Given the description of an element on the screen output the (x, y) to click on. 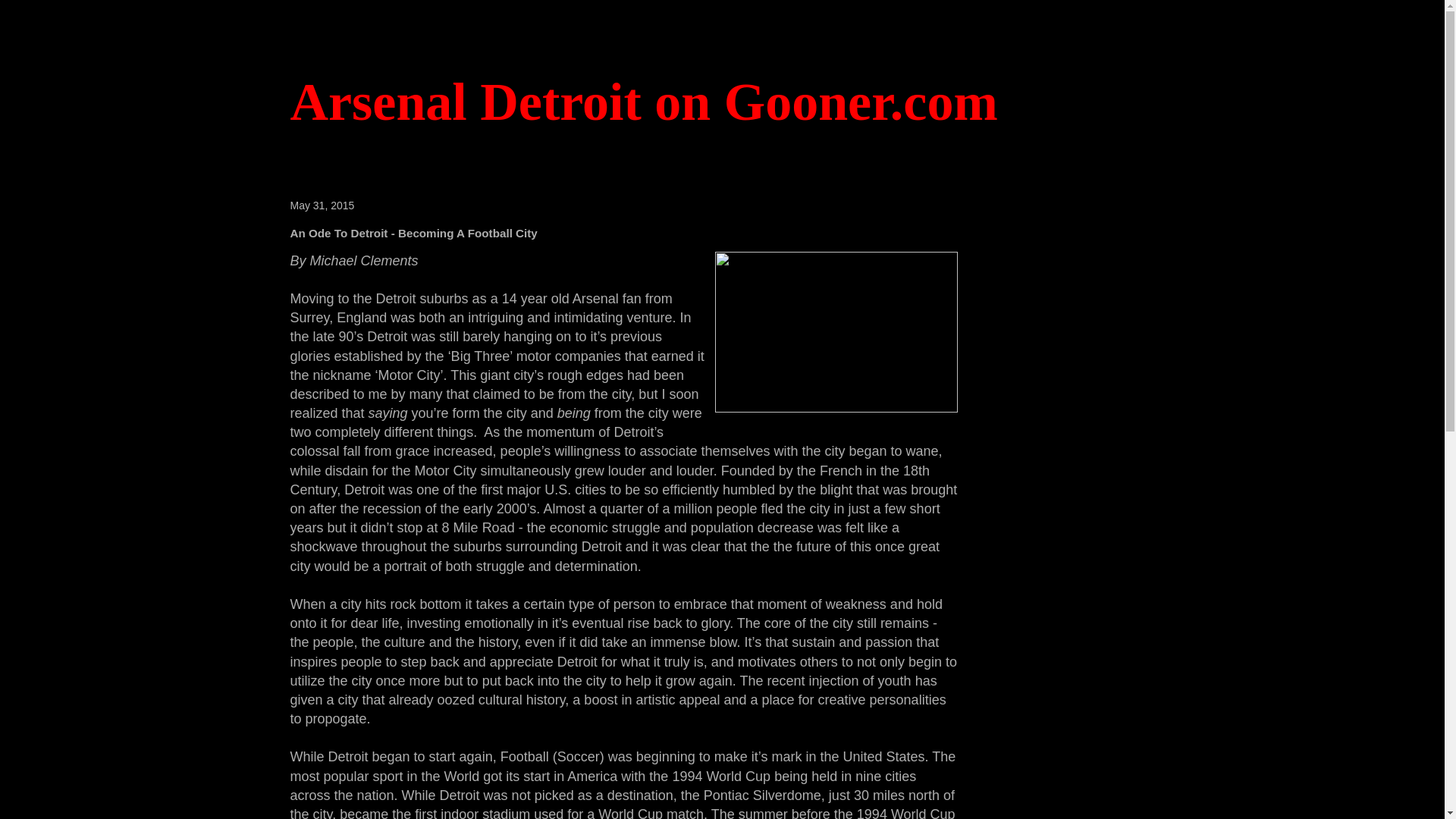
Arsenal Detroit on Gooner.com (643, 101)
